Given the description of an element on the screen output the (x, y) to click on. 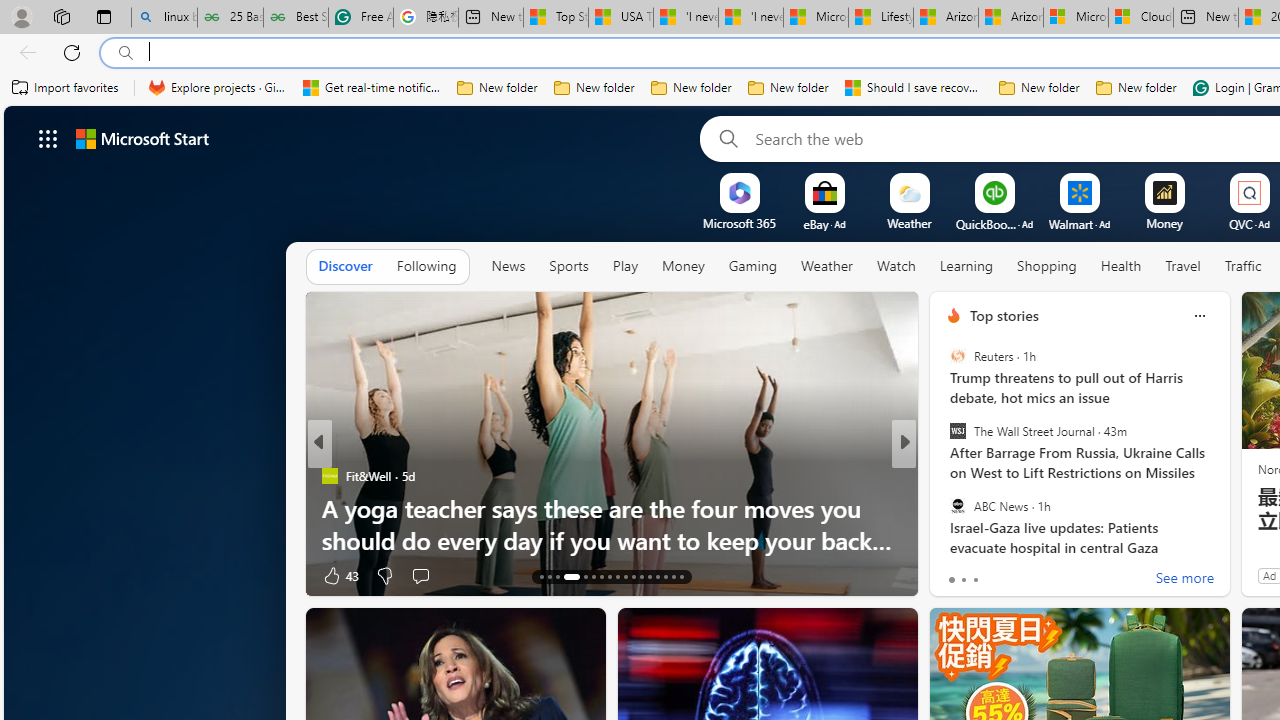
Play (625, 267)
tab-2 (974, 579)
Worthly (944, 507)
ATP Fitness Pte Ltd (987, 507)
Discover Magazine (944, 475)
Gaming (752, 265)
21 Like (956, 574)
UnifyCosmos (944, 475)
Reuters (957, 356)
AutomationID: tab-20 (609, 576)
Money (682, 265)
AutomationID: tab-17 (585, 576)
